Given the description of an element on the screen output the (x, y) to click on. 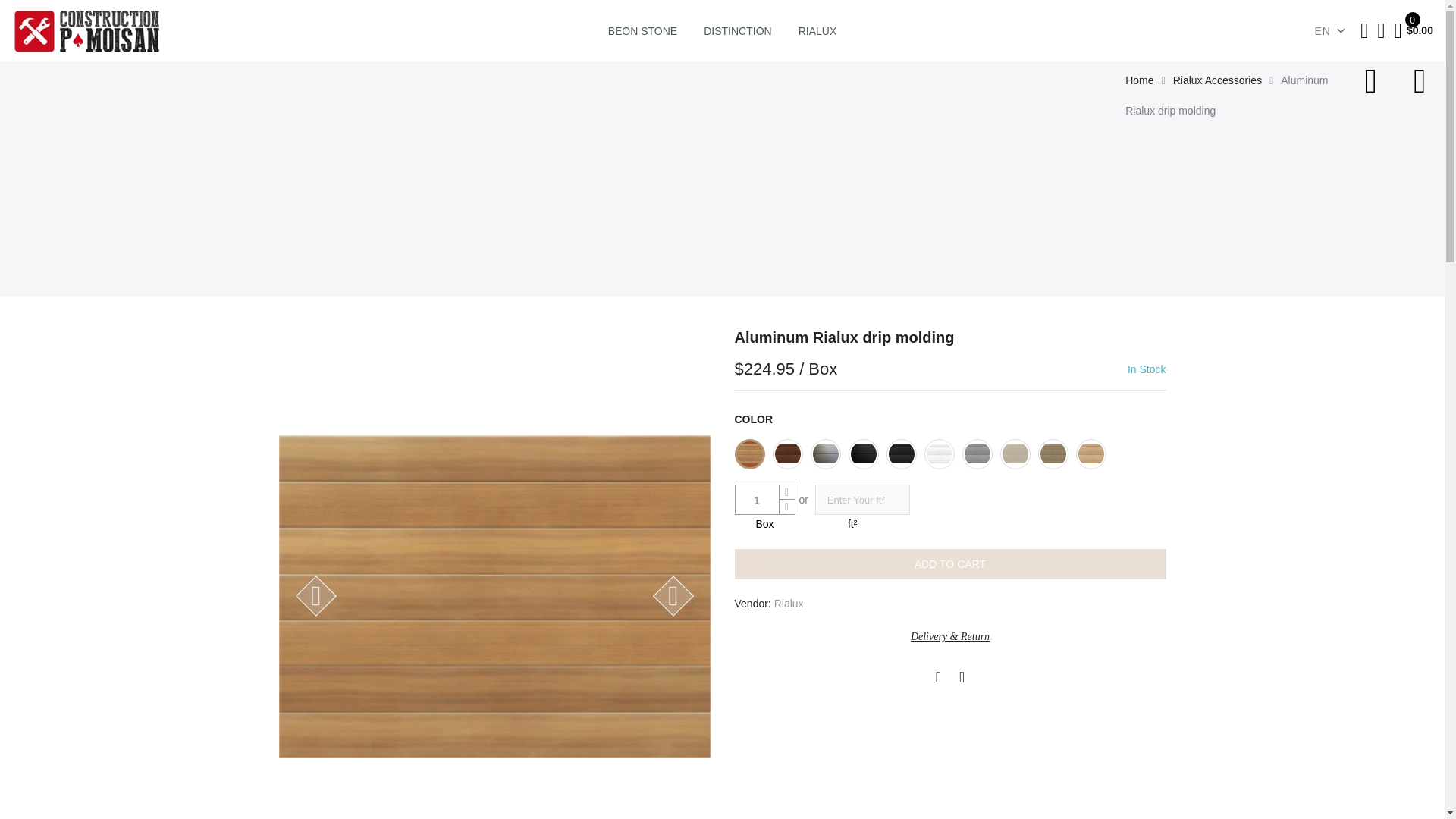
Home (1139, 80)
RIALUX (817, 30)
BEON STONE (643, 30)
1 (756, 500)
Rialux Accessories (1217, 80)
DISTINCTION (737, 30)
Previous product (1375, 80)
Rialux (788, 603)
Qty (756, 500)
